Given the description of an element on the screen output the (x, y) to click on. 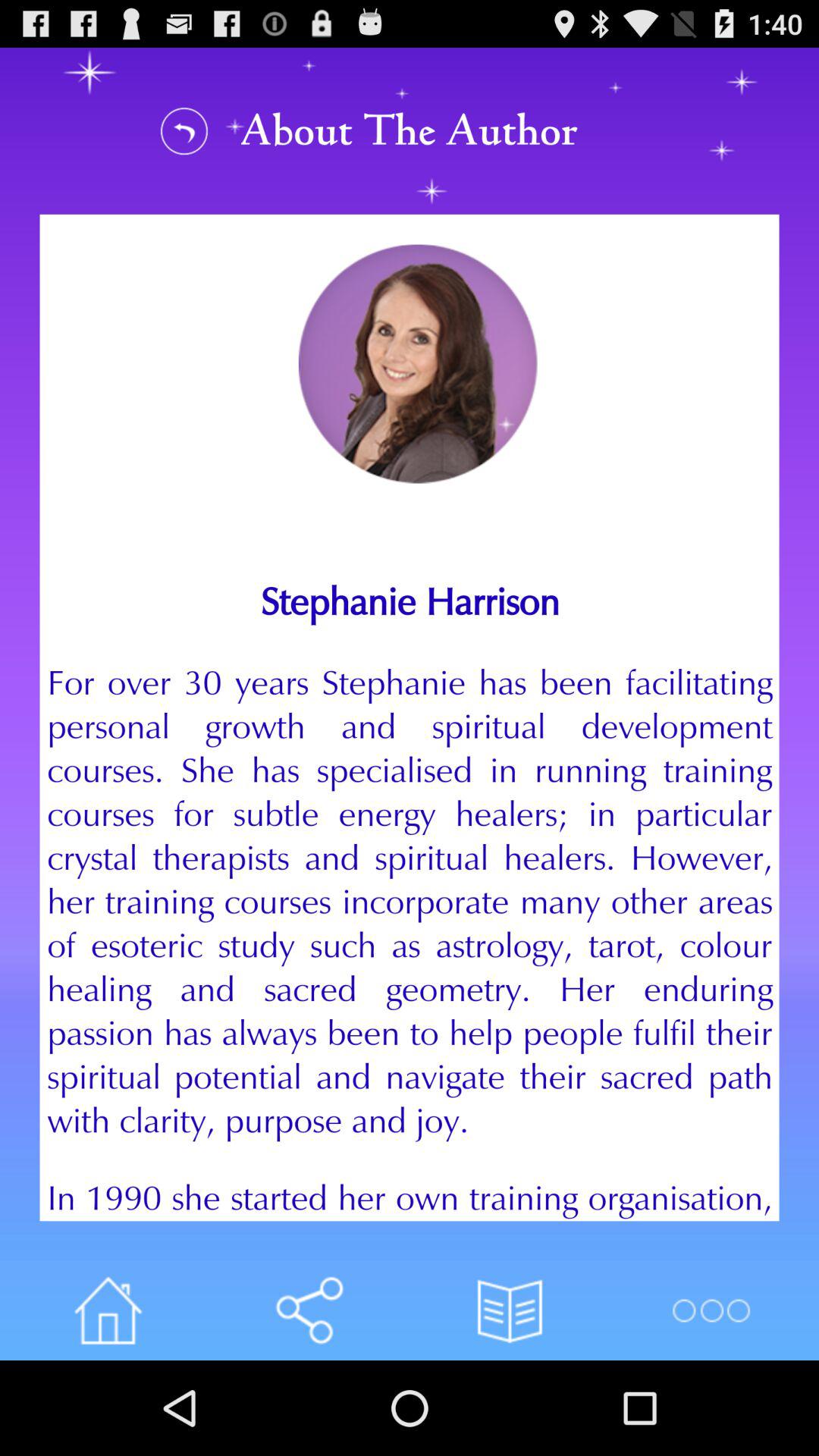
select share option (308, 1310)
